Given the description of an element on the screen output the (x, y) to click on. 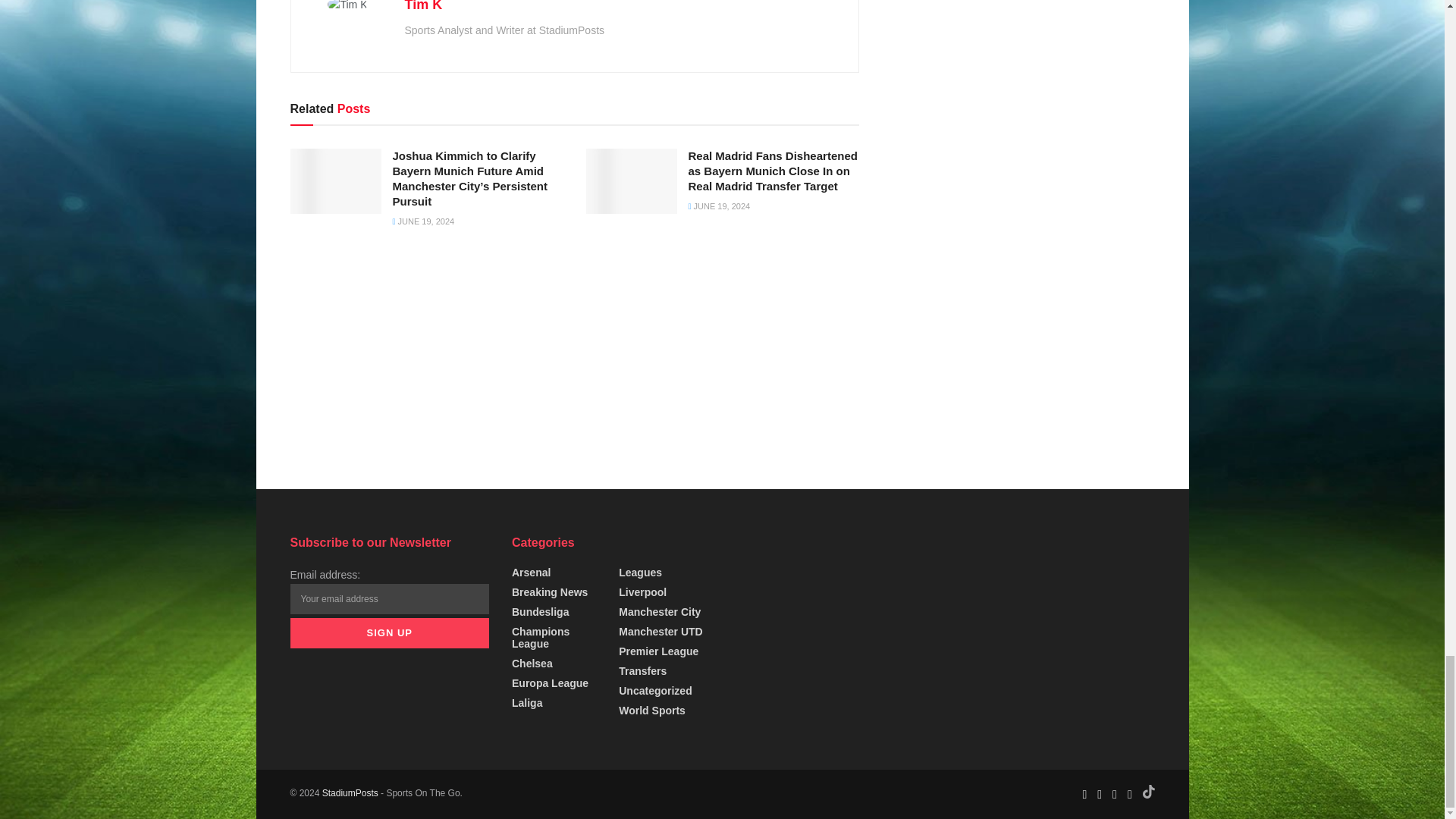
Sign up (389, 633)
